Given the description of an element on the screen output the (x, y) to click on. 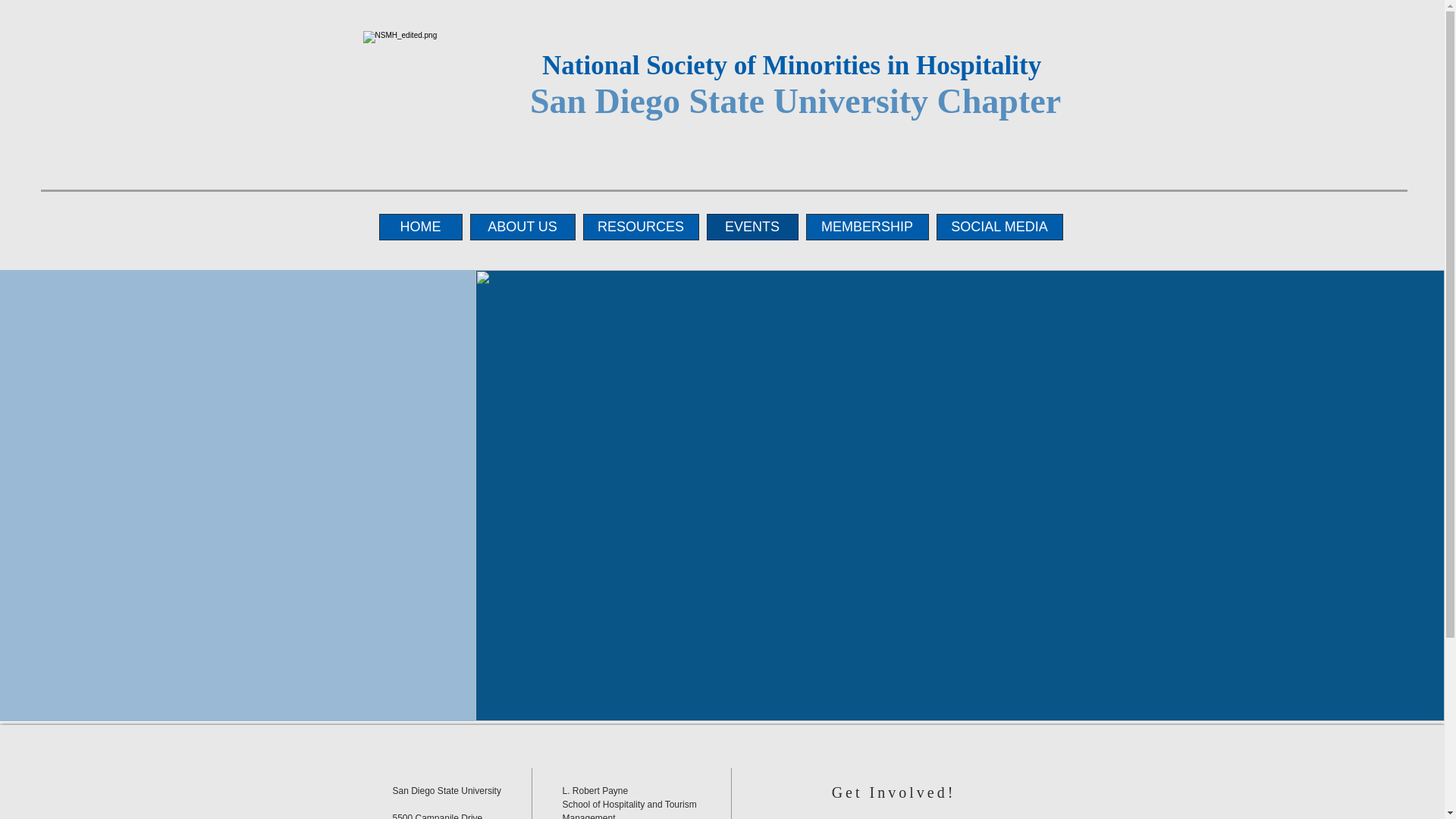
HOME (420, 226)
MEMBERSHIP (866, 226)
EVENTS (751, 226)
RESOURCES (640, 226)
SOCIAL MEDIA (999, 226)
ABOUT US (522, 226)
